Given the description of an element on the screen output the (x, y) to click on. 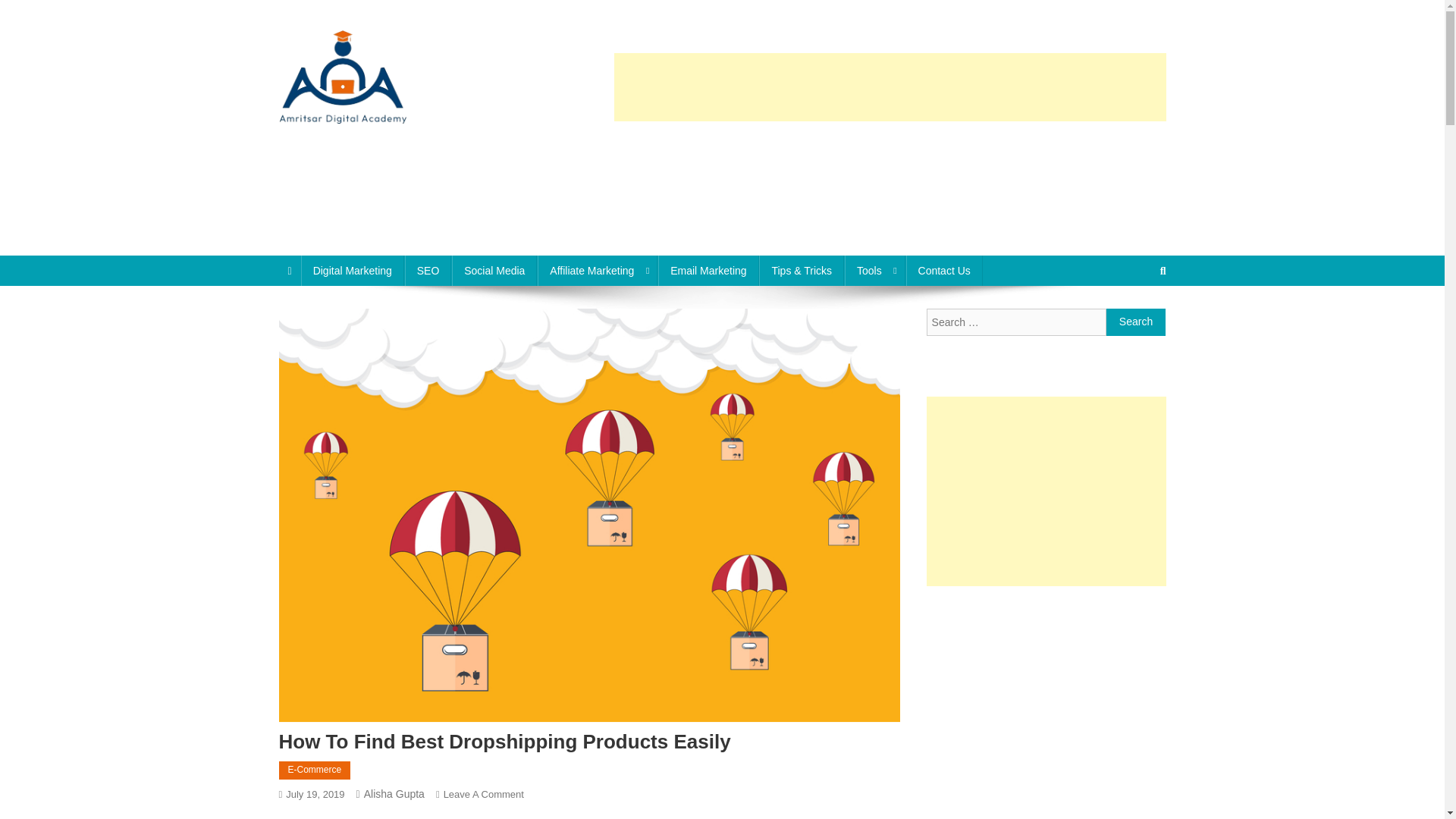
Tools (874, 270)
Advertisement (890, 177)
Social Media (494, 270)
Search (1136, 321)
Contact Us (943, 270)
Affiliate Marketing (597, 270)
Advertisement (1046, 696)
SEO (427, 270)
Search (1136, 321)
E-Commerce (314, 770)
